Given the description of an element on the screen output the (x, y) to click on. 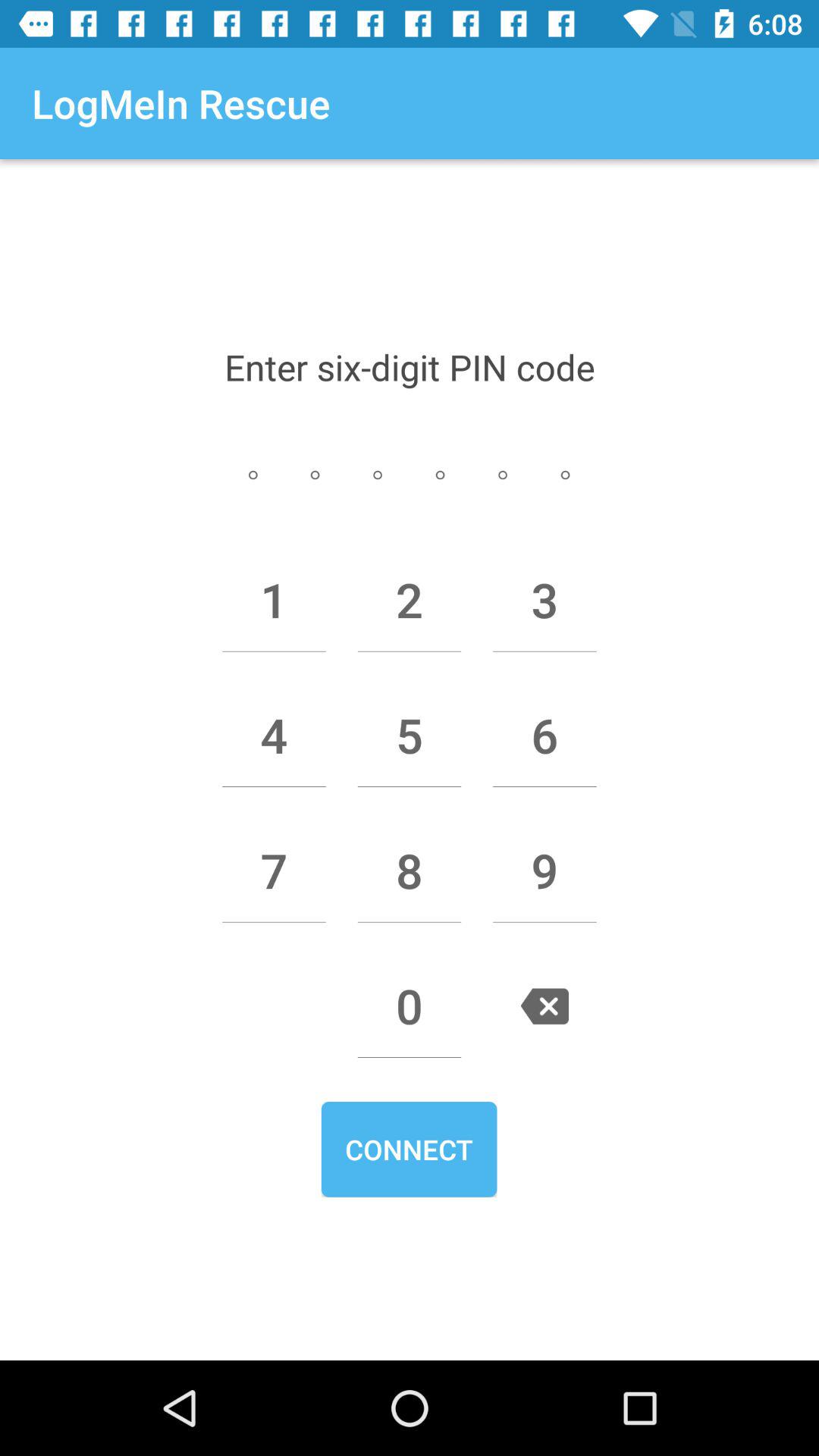
turn off the item next to 9 icon (409, 870)
